Given the description of an element on the screen output the (x, y) to click on. 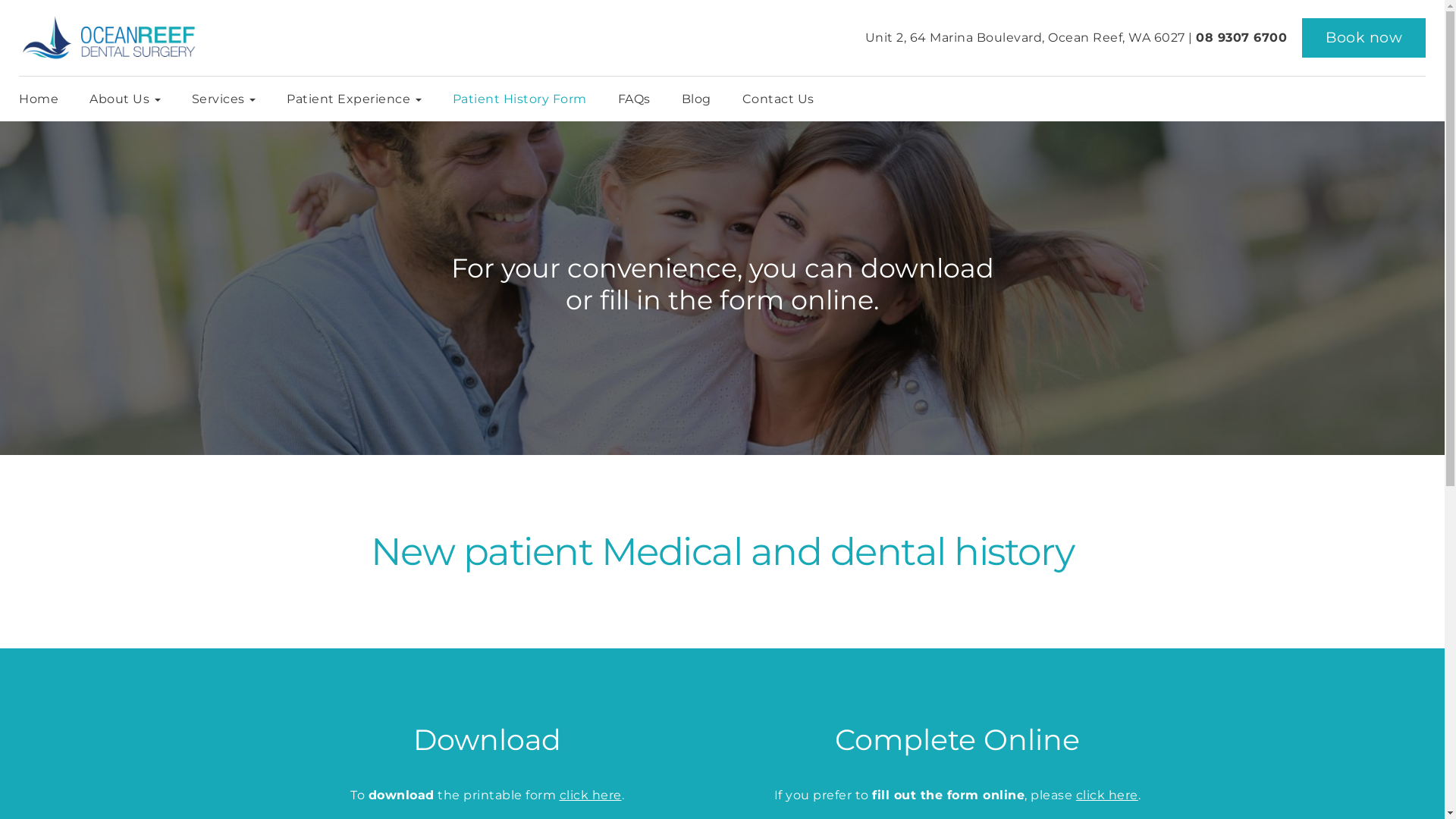
click here Element type: text (1107, 794)
Services Element type: text (228, 98)
Book now Element type: text (1363, 37)
About Us Element type: text (129, 98)
click here. Element type: text (591, 794)
08 9307 6700 Element type: text (1240, 37)
Patient History Form Element type: text (523, 98)
Home Element type: text (48, 98)
Blog Element type: text (700, 98)
Patient Experience Element type: text (358, 98)
Contact Us Element type: text (778, 98)
Lorem ipsum Element type: hover (722, 265)
FAQs Element type: text (638, 98)
